Given the description of an element on the screen output the (x, y) to click on. 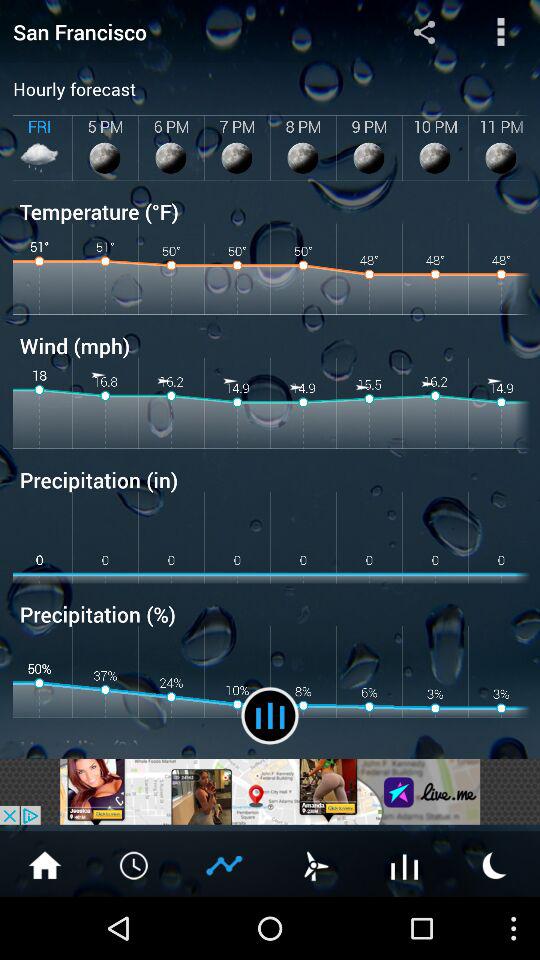
windmill option (315, 864)
